Given the description of an element on the screen output the (x, y) to click on. 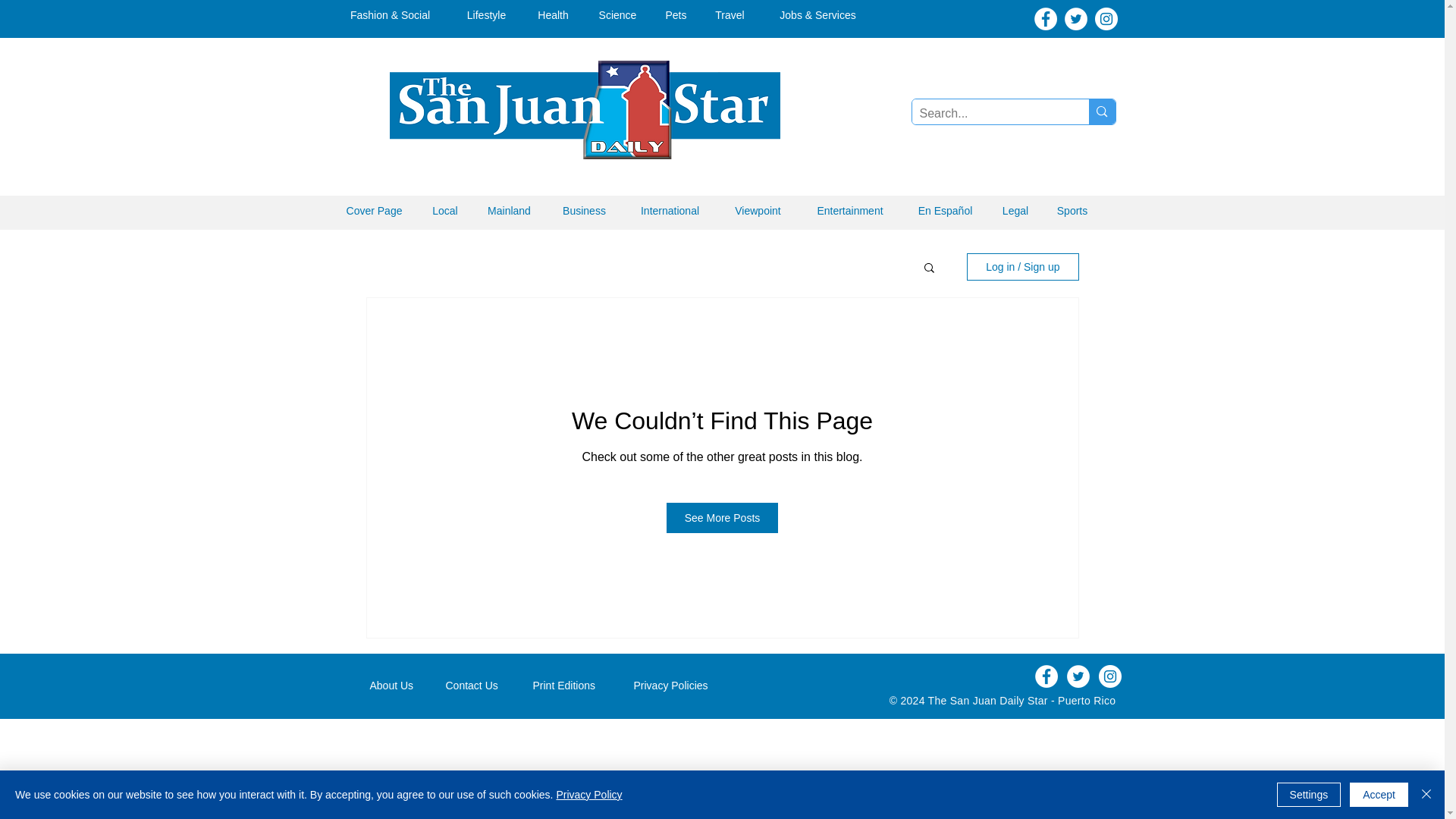
Accept (1378, 794)
Science (617, 15)
Entertainment (849, 210)
Local (445, 210)
Sports (1072, 210)
Print Editions (572, 685)
Business (583, 210)
Viewpoint (757, 210)
Mainland (508, 210)
Travel (730, 15)
Health (552, 15)
Settings (1308, 794)
Lifestyle (485, 15)
International (669, 210)
Privacy Policies (679, 685)
